Given the description of an element on the screen output the (x, y) to click on. 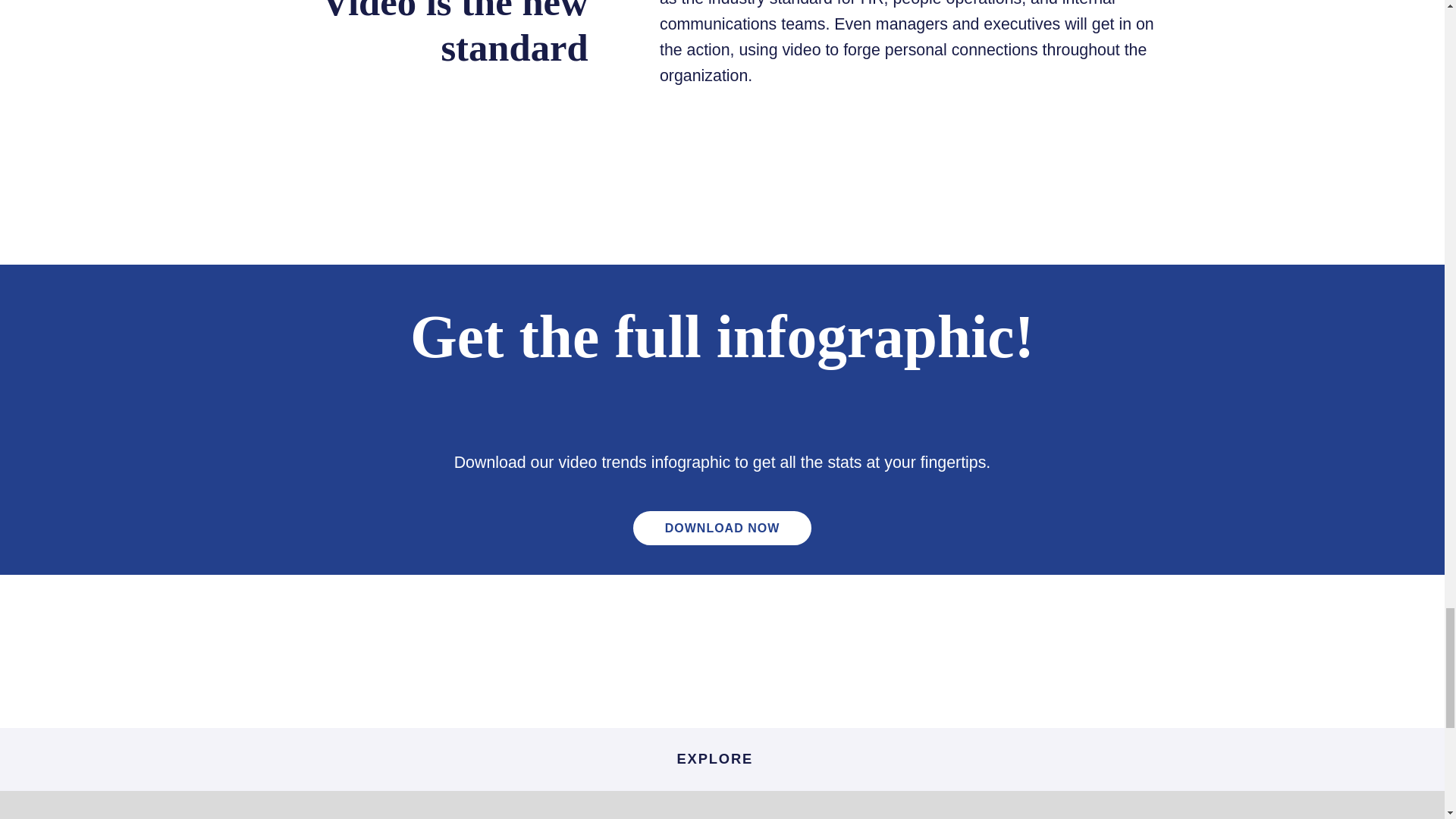
DOWNLOAD NOW (722, 528)
